Given the description of an element on the screen output the (x, y) to click on. 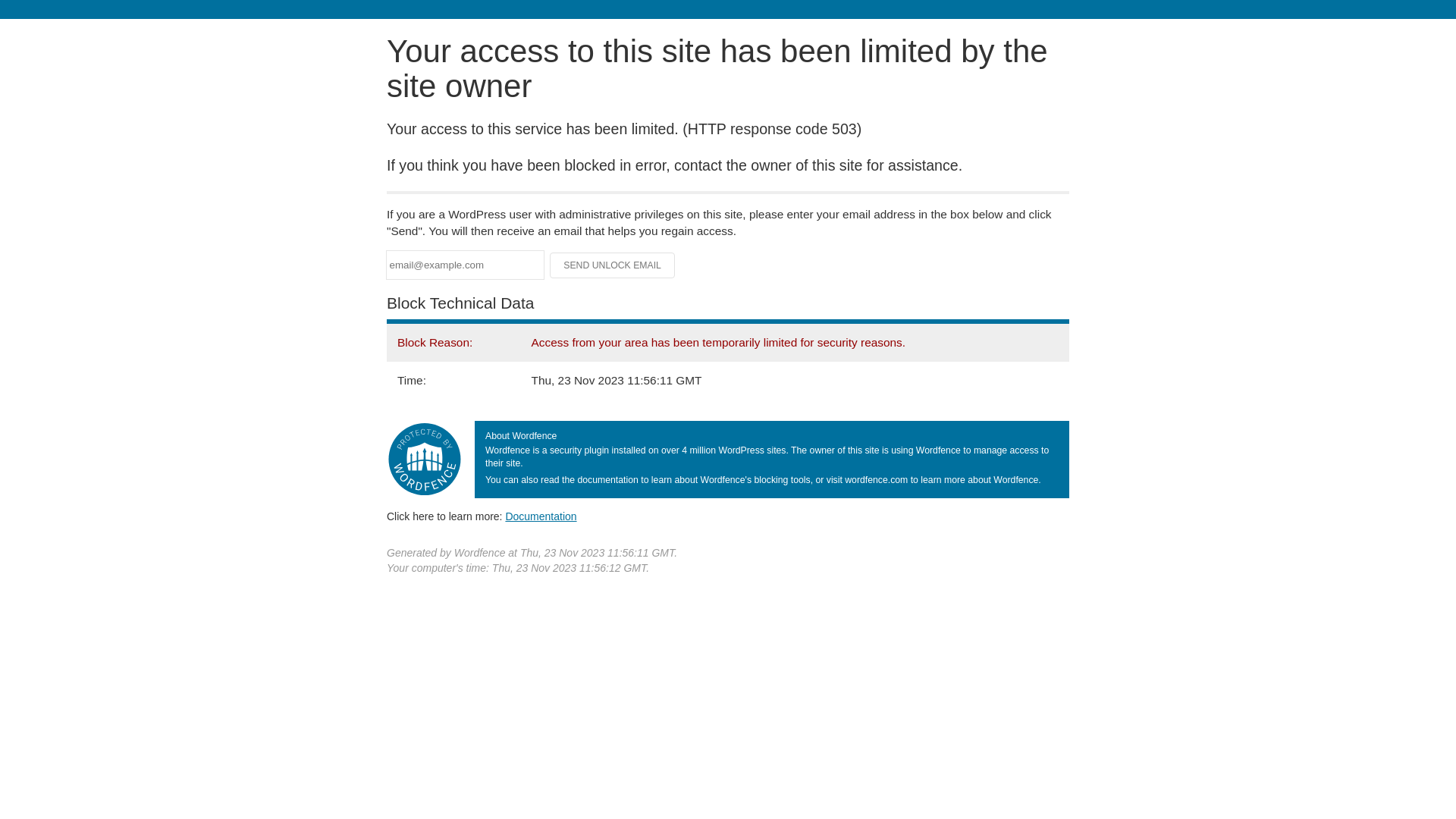
Documentation Element type: text (540, 516)
Send Unlock Email Element type: text (612, 265)
